Given the description of an element on the screen output the (x, y) to click on. 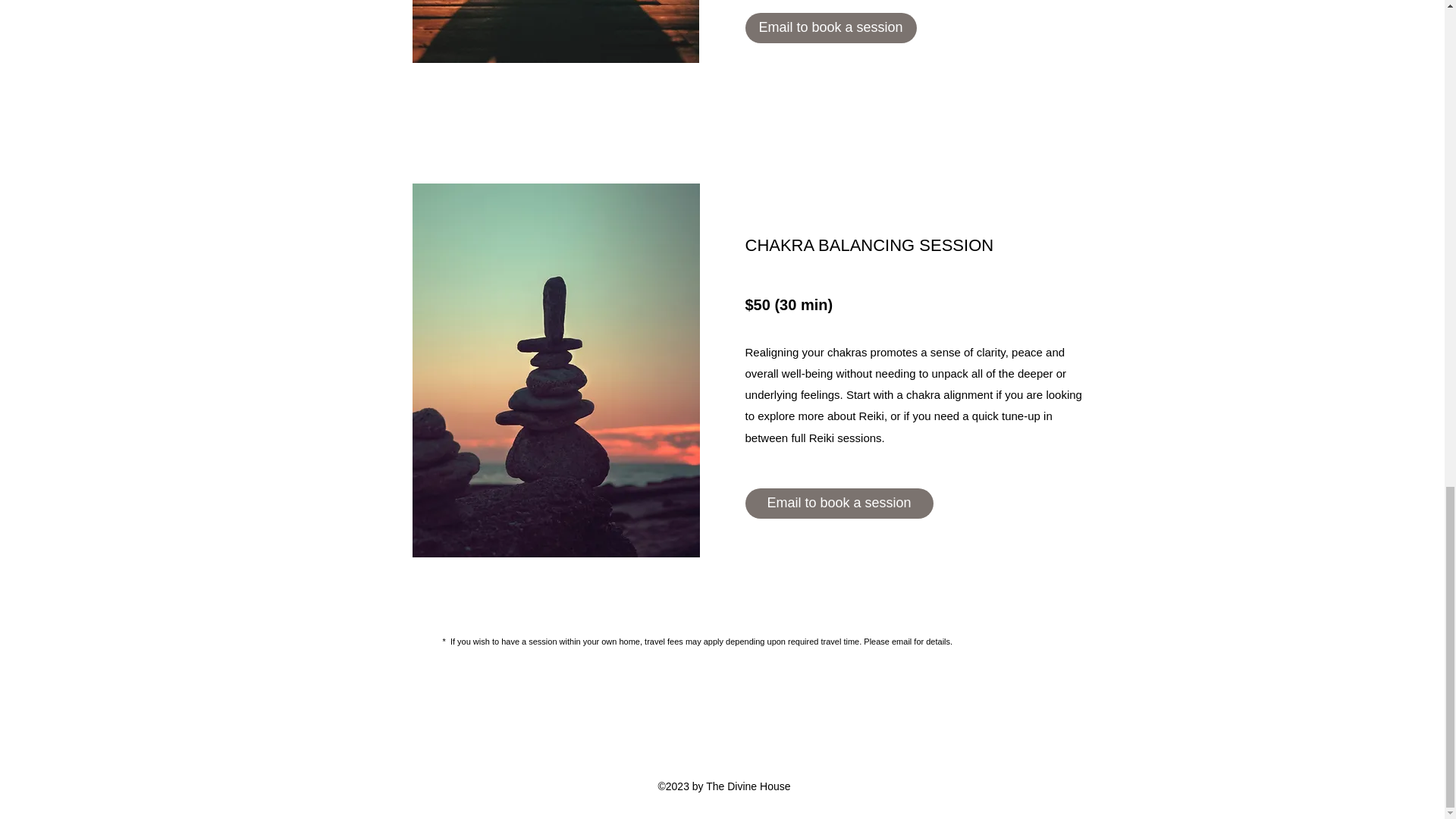
Email to book a session (829, 28)
Email to book a session (838, 503)
